Given the description of an element on the screen output the (x, y) to click on. 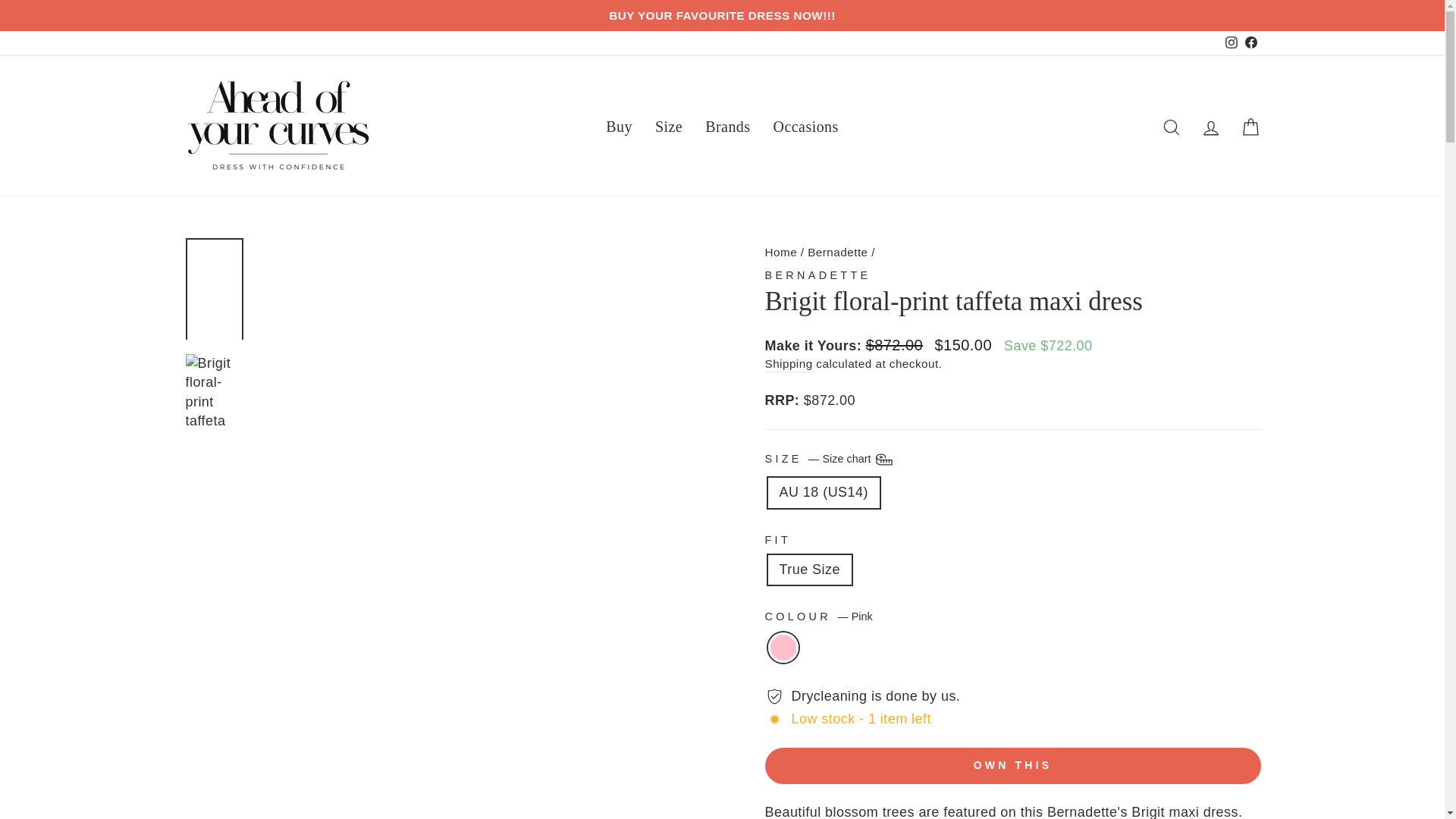
Back to the frontpage (780, 251)
